Given the description of an element on the screen output the (x, y) to click on. 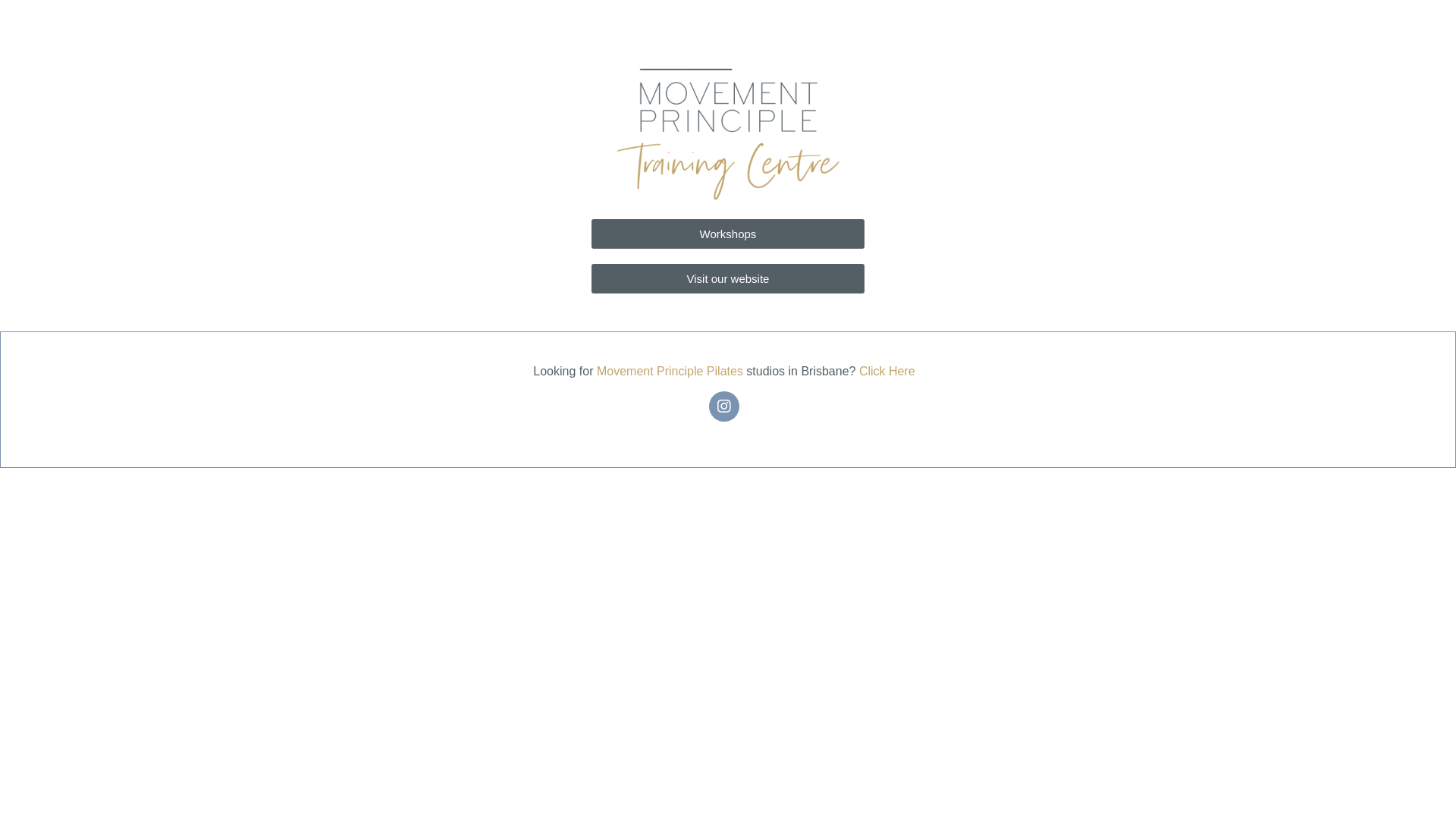
Visit our website Element type: text (727, 278)
Workshops Element type: text (727, 233)
Click Here Element type: text (887, 370)
Movement Principle Pilates Element type: text (669, 370)
